Given the description of an element on the screen output the (x, y) to click on. 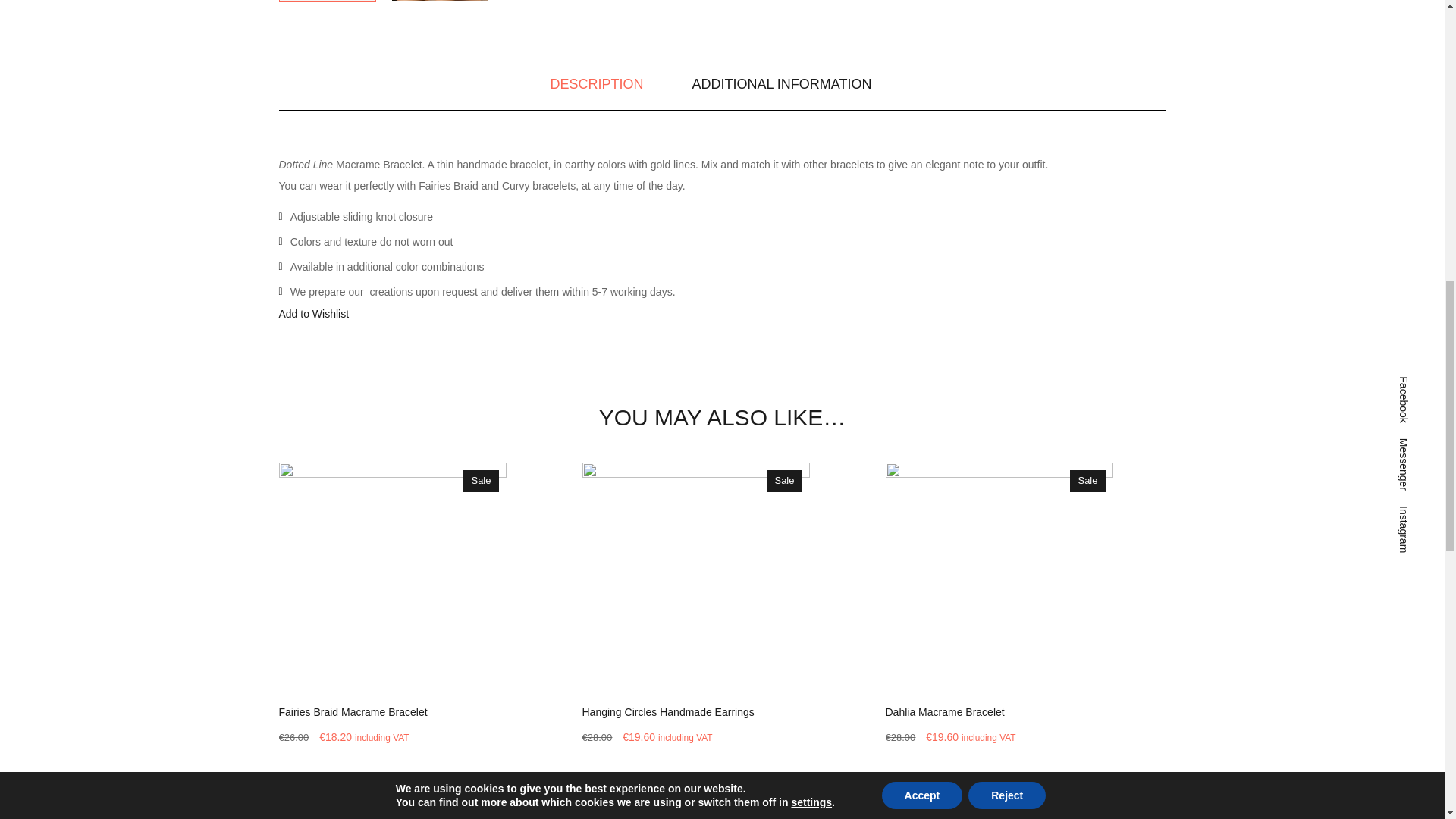
Add to Wishlist (314, 313)
DESCRIPTION (596, 85)
ADDITIONAL INFORMATION (780, 85)
